Given the description of an element on the screen output the (x, y) to click on. 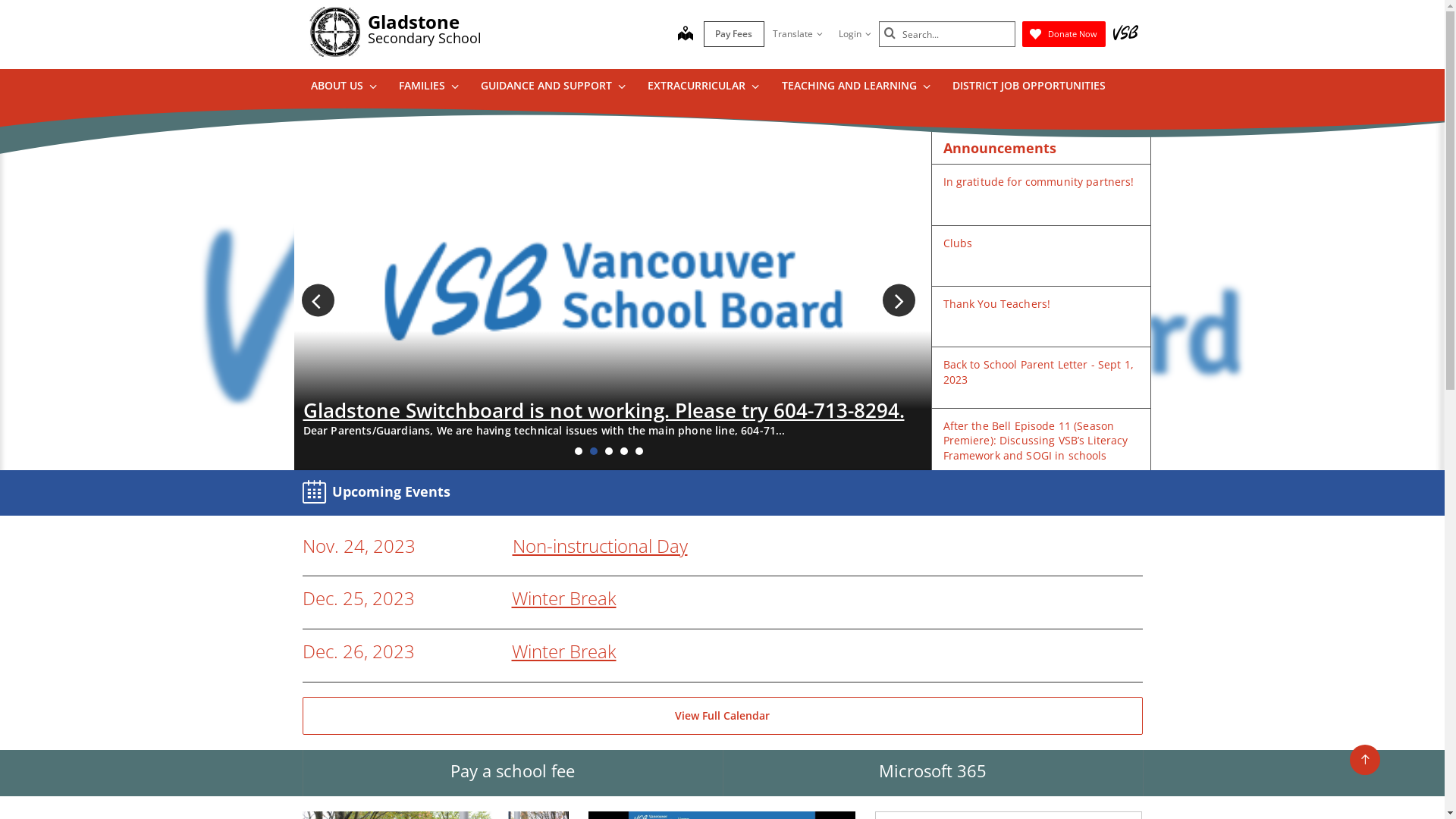
Winter Break Element type: text (563, 597)
ABOUT US Element type: text (342, 88)
1 Element type: text (578, 451)
Donate Now Element type: text (1063, 34)
Dec. 25, 2023 Element type: text (357, 598)
Submit Element type: text (889, 33)
Microsoft 365 Element type: text (931, 773)
In gratitude for community partners! Element type: text (1038, 181)
View Full Calendar Element type: text (721, 715)
Back to School Parent Letter - Sept 1, 2023 Element type: text (1038, 371)
3 Element type: text (608, 451)
FAMILIES Element type: text (428, 88)
Winter Break Element type: text (563, 650)
Nov. 24, 2023 Element type: text (357, 546)
Gladstone Element type: text (412, 21)
EXTRACURRICULAR Element type: text (702, 88)
5 Element type: text (639, 451)
TEACHING AND LEARNING Element type: text (855, 88)
Non-instructional Day Element type: text (599, 545)
Translate Element type: text (797, 33)
Pay Fees Element type: text (733, 34)
Go to top Element type: text (1364, 759)
map Element type: text (685, 34)
4 Element type: text (623, 451)
2 Element type: text (593, 451)
Clubs Element type: text (957, 242)
DISTRICT JOB OPPORTUNITIES Element type: text (1028, 88)
Thank You Teachers! Element type: text (997, 303)
GUIDANCE AND SUPPORT Element type: text (552, 88)
Upcoming Events Element type: text (379, 492)
Dec. 26, 2023 Element type: text (357, 651)
Pay a school fee Element type: text (511, 773)
Login Element type: text (853, 33)
